Given the description of an element on the screen output the (x, y) to click on. 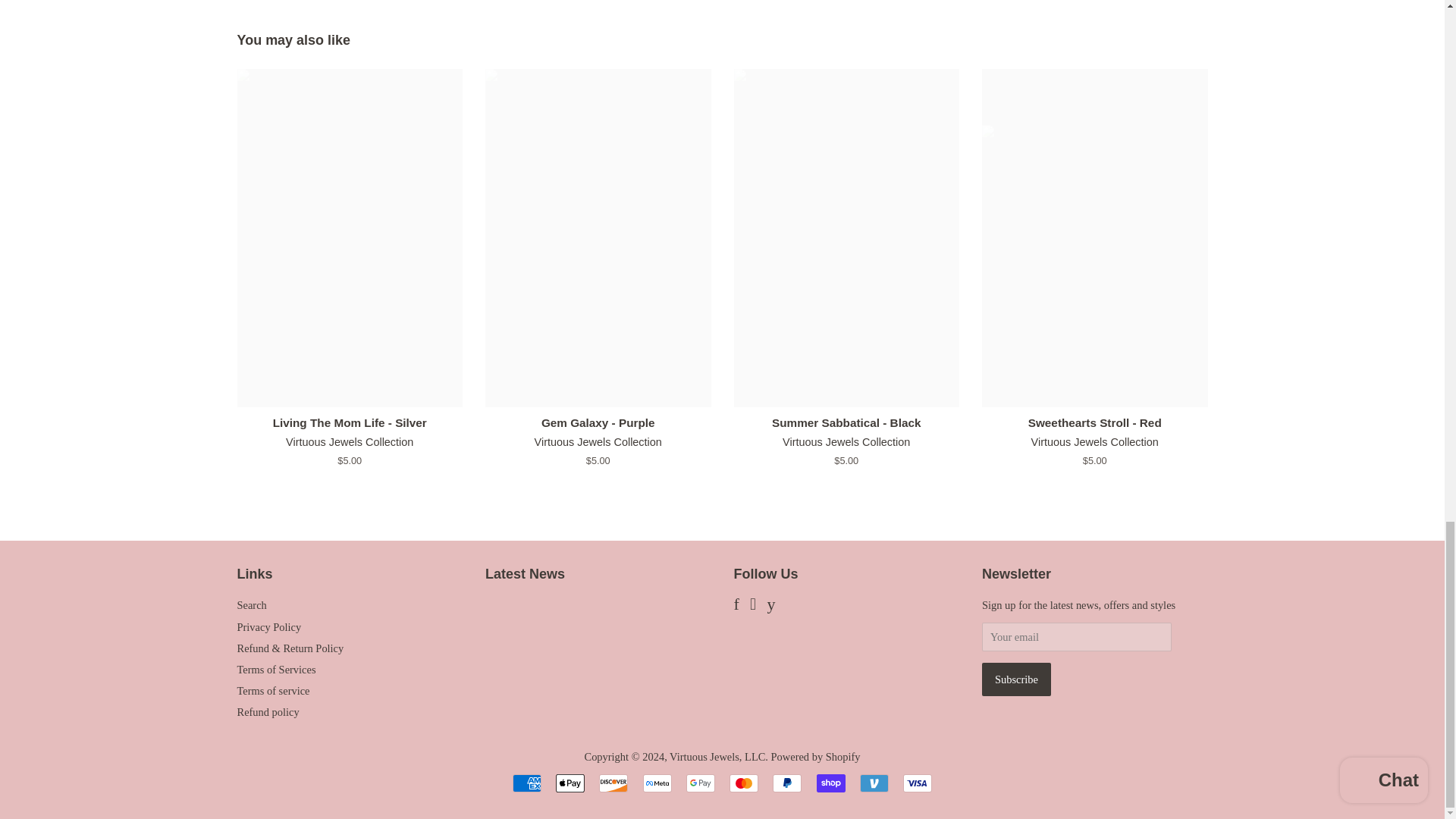
Subscribe (1016, 679)
PayPal (787, 782)
Discover (612, 782)
Apple Pay (570, 782)
Shop Pay (830, 782)
Google Pay (699, 782)
Meta Pay (657, 782)
Venmo (874, 782)
Mastercard (743, 782)
Visa (916, 782)
American Express (526, 782)
